Given the description of an element on the screen output the (x, y) to click on. 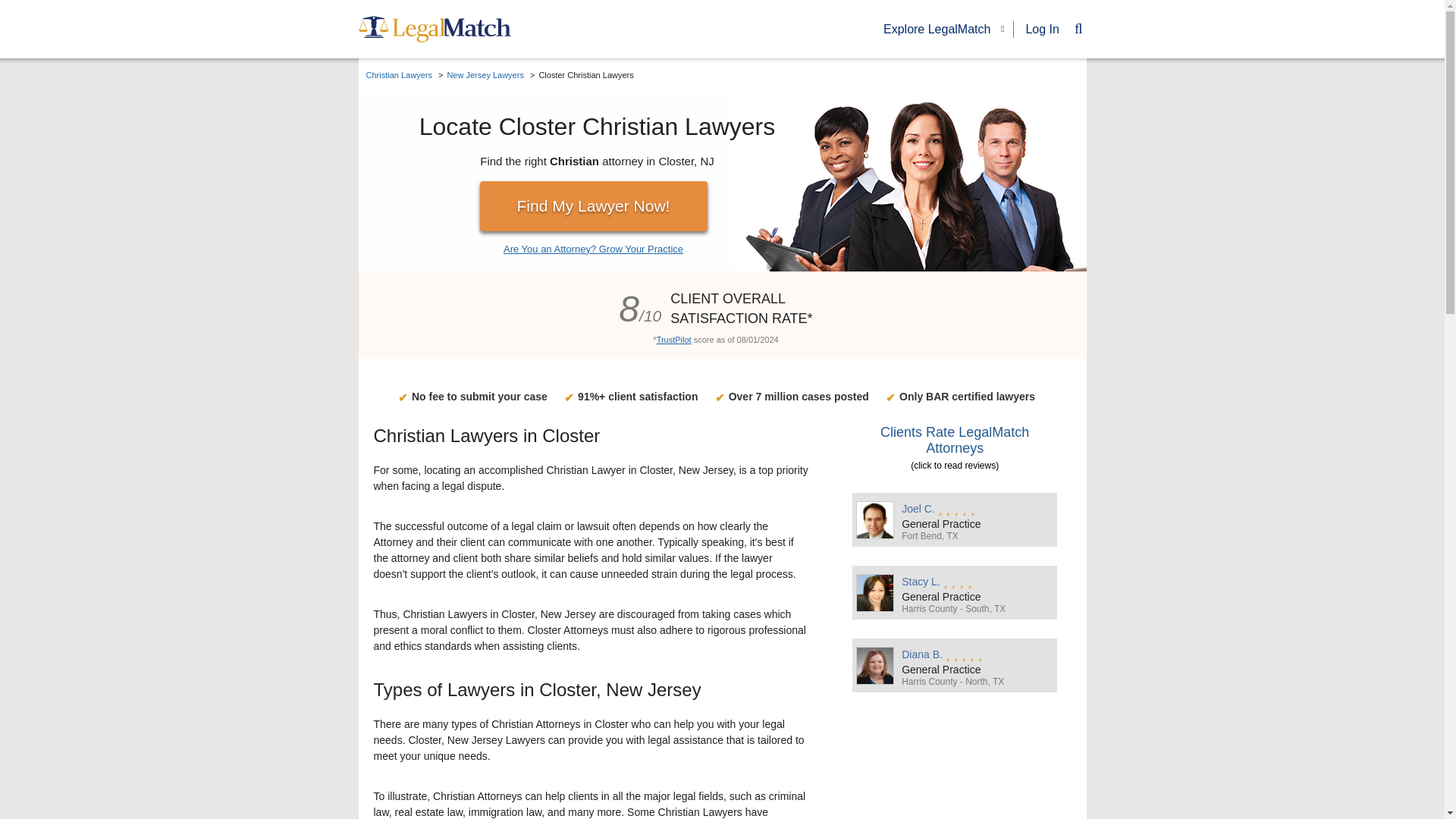
Log In (1041, 29)
